Given the description of an element on the screen output the (x, y) to click on. 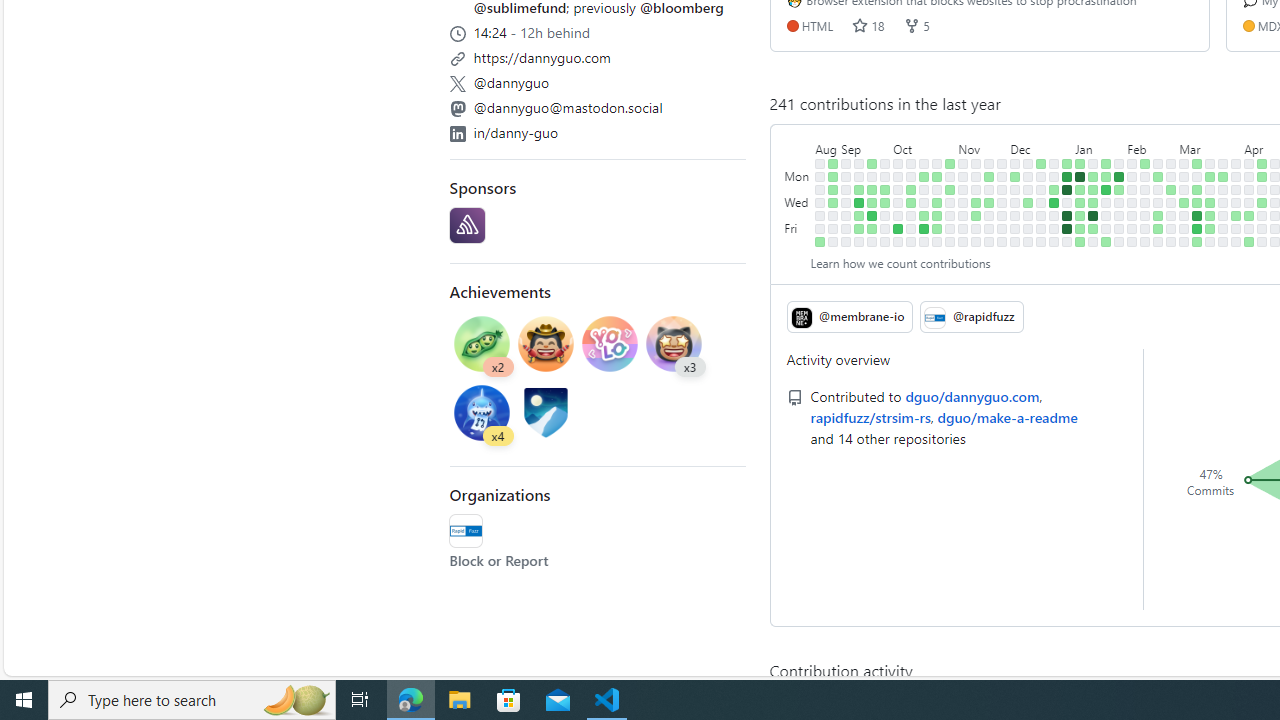
No contributions on October 2nd. (898, 176)
4 contributions on September 21st. (872, 215)
No contributions on November 11th. (962, 241)
No contributions on December 2nd. (1002, 241)
No contributions on December 20th. (1041, 202)
2 contributions on September 22nd. (872, 228)
3 contributions on January 27th. (1106, 241)
Achievement: Arctic Code Vault Contributor (545, 412)
No contributions on September 24th. (885, 163)
1 contribution on March 20th. (1210, 202)
No contributions on January 20th. (1093, 241)
No contributions on December 3rd. (1015, 163)
No contributions on March 1st. (1171, 228)
No contributions on October 4th. (898, 202)
LinkedIn (457, 133)
